Given the description of an element on the screen output the (x, y) to click on. 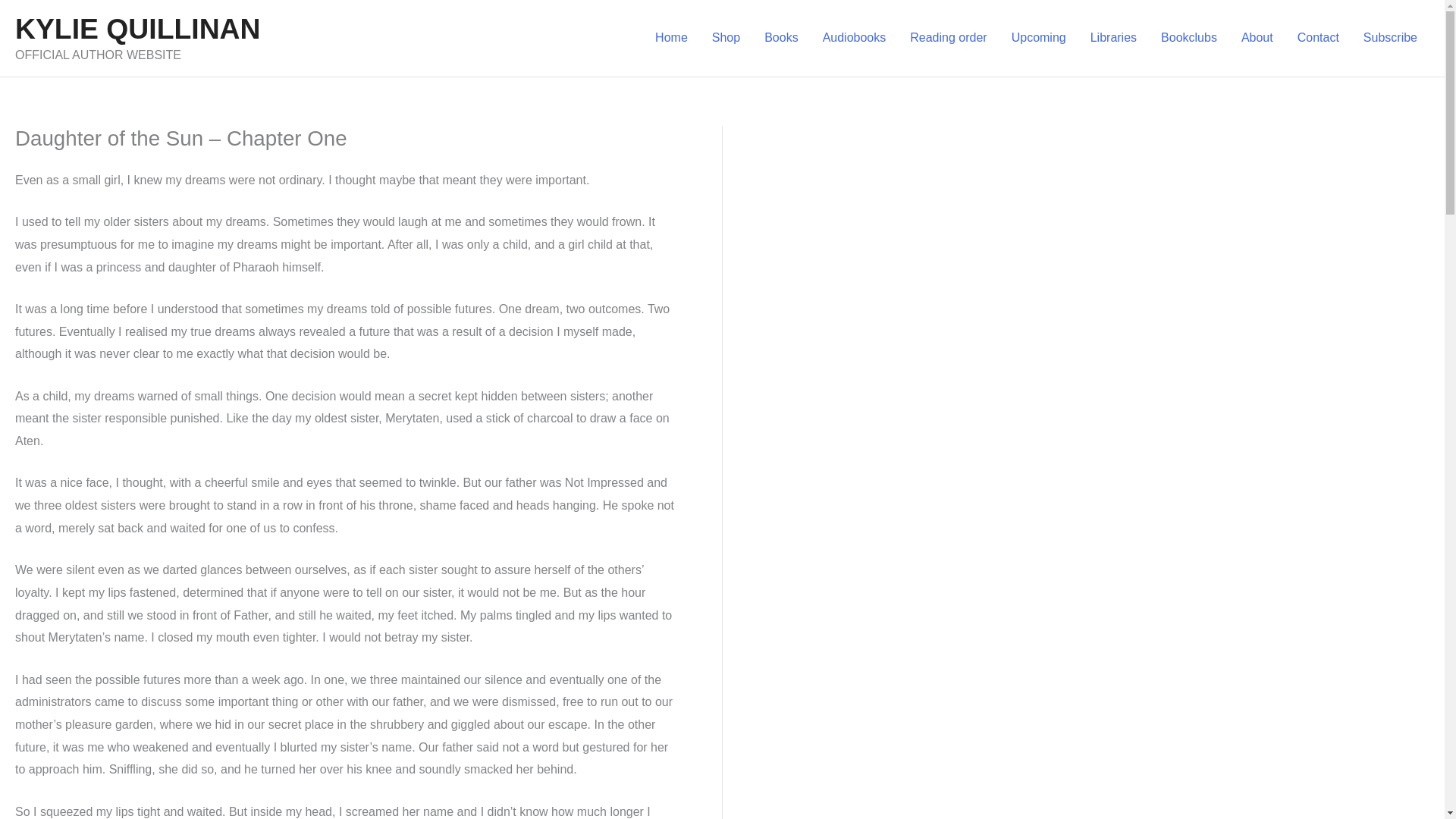
Libraries (1113, 37)
Home (671, 37)
Upcoming (1038, 37)
Contact (1318, 37)
About (1256, 37)
Bookclubs (1188, 37)
Subscribe (1390, 37)
KYLIE QUILLINAN (137, 29)
Reading order (948, 37)
Books (780, 37)
